Given the description of an element on the screen output the (x, y) to click on. 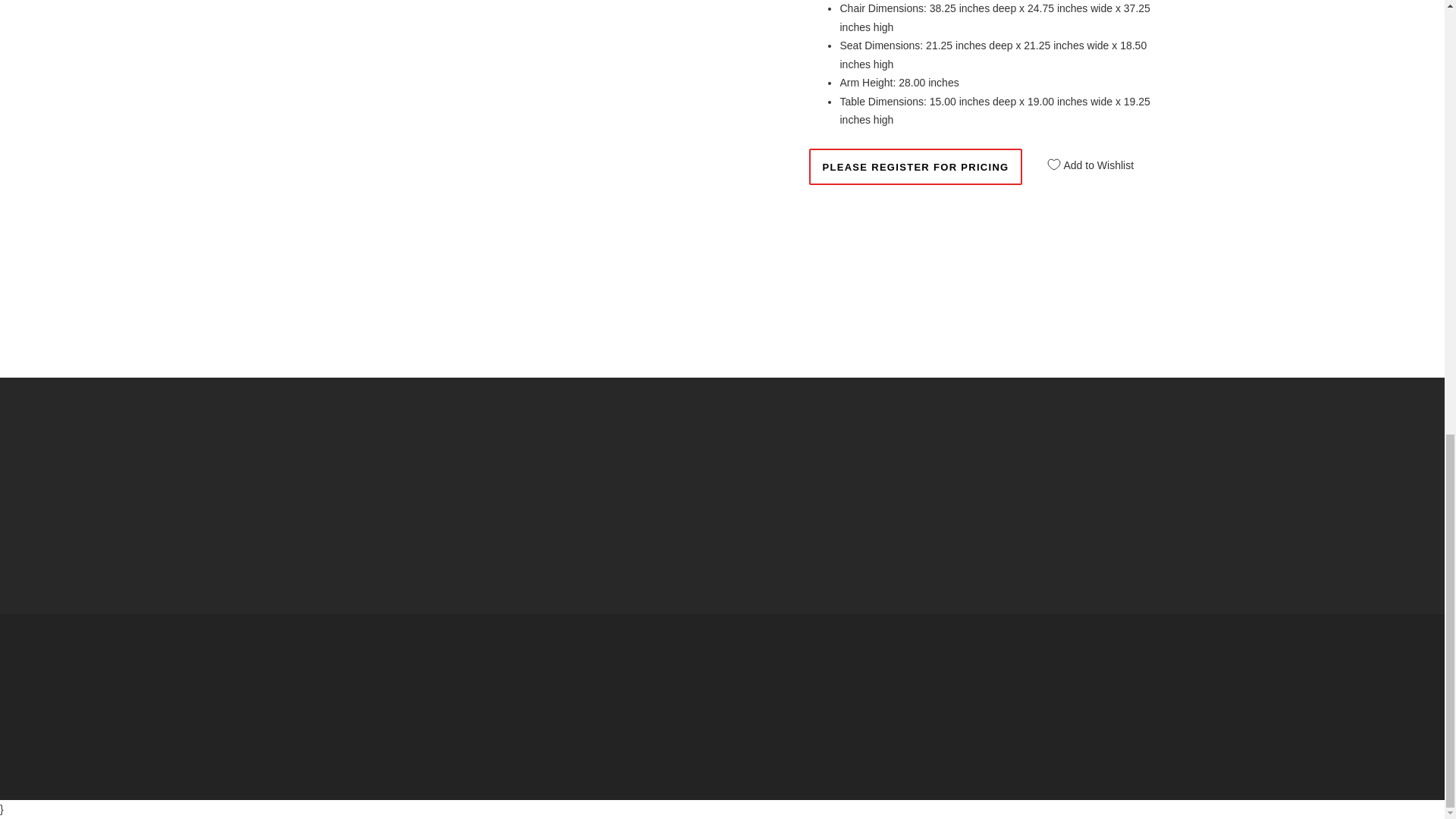
Add to Wishlist (1085, 159)
